Given the description of an element on the screen output the (x, y) to click on. 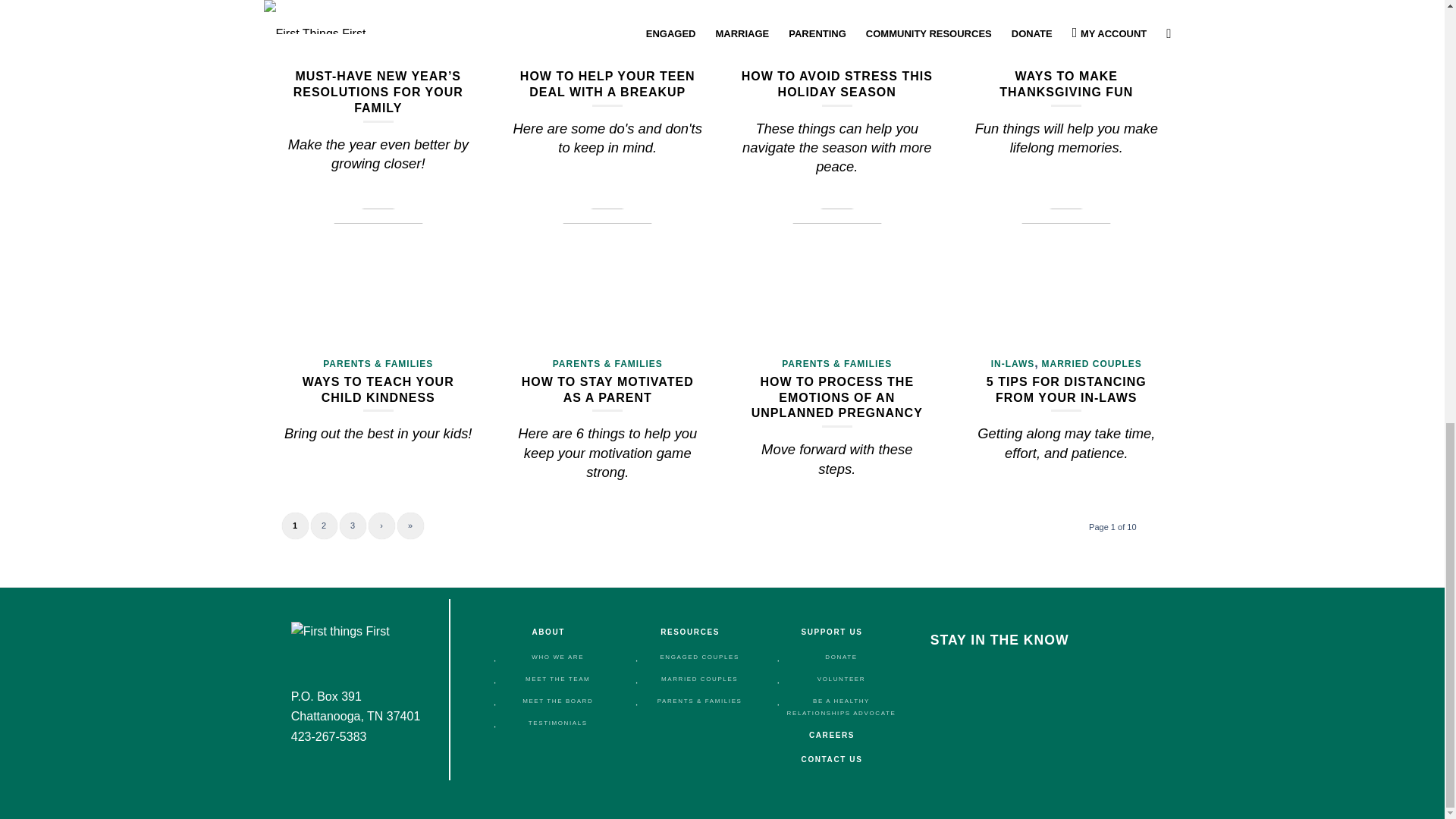
HOW TO HELP YOUR TEEN DEAL WITH A BREAKUP (607, 83)
Permanent Link: Ways to Teach Your Child Kindness (378, 389)
Permanent Link: How to Help Your Teen Deal With a Breakup (607, 83)
Permanent Link: How to Stay Motivated as a Parent (607, 389)
Permanent Link: Ways To Make Thanksgiving Fun (1065, 83)
Permanent Link: How To Avoid Stress This Holiday Season (837, 83)
